Given the description of an element on the screen output the (x, y) to click on. 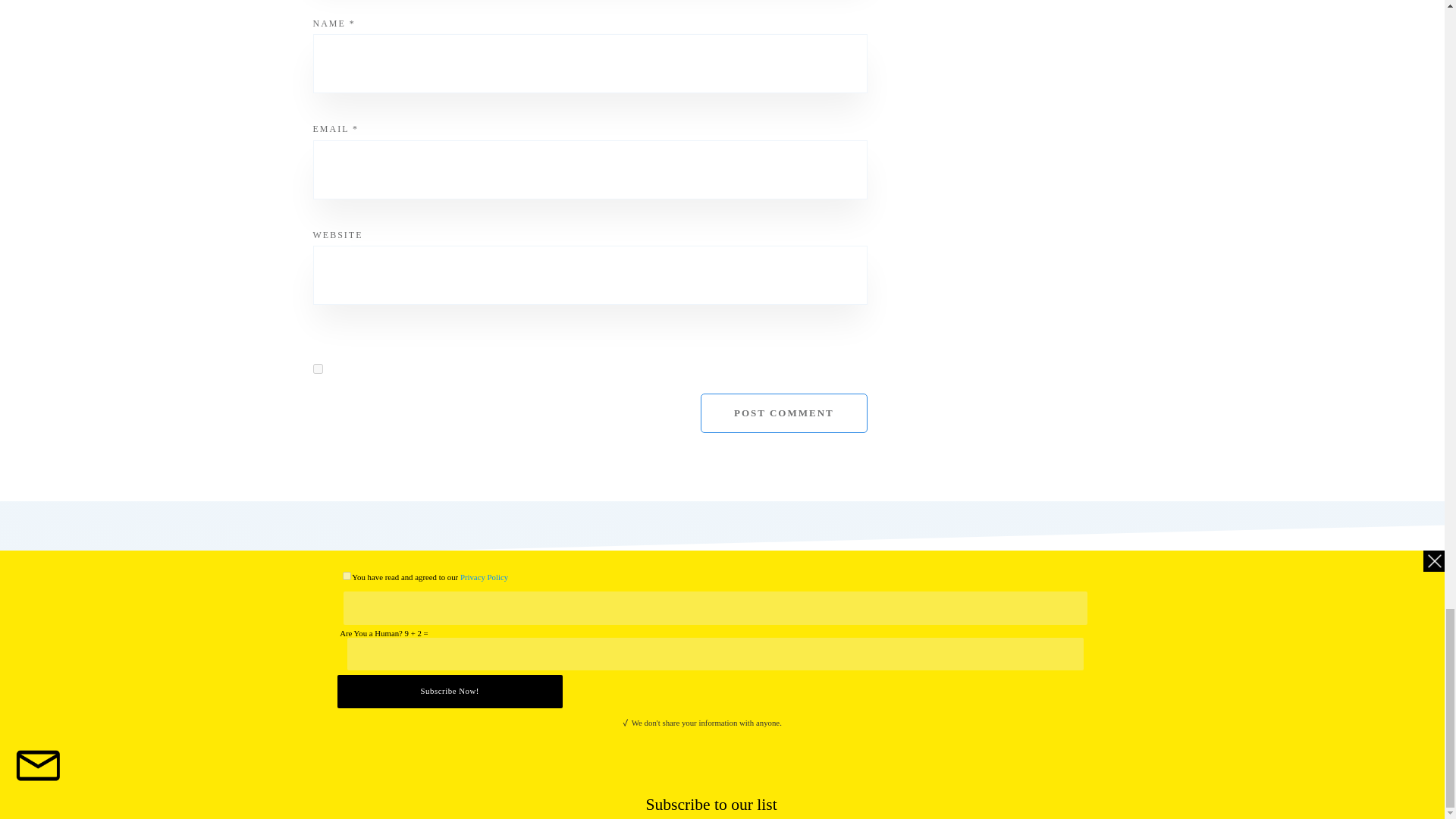
yes (317, 368)
